Given the description of an element on the screen output the (x, y) to click on. 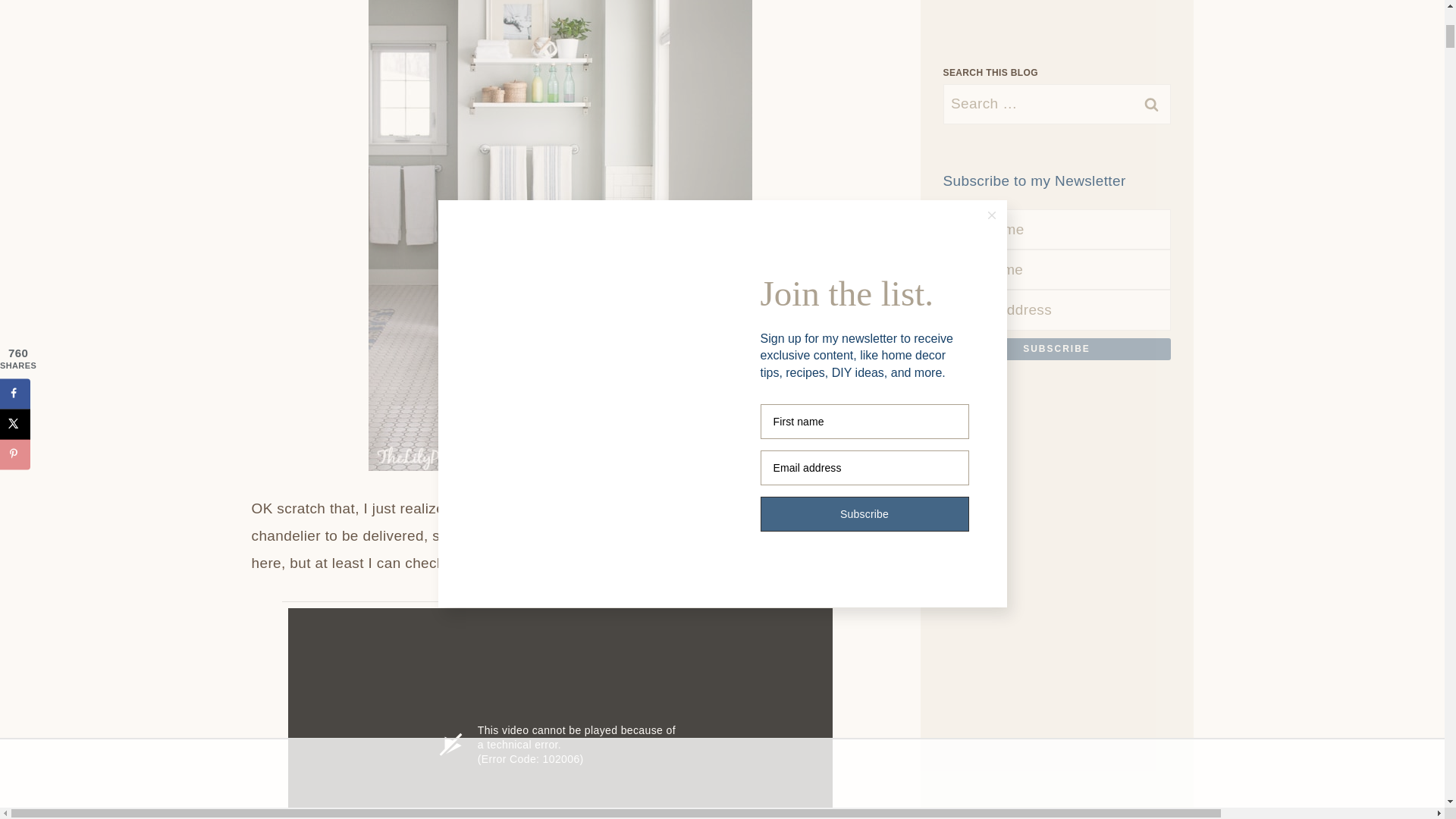
Subscribe (1056, 349)
Search (1056, 107)
Search (1056, 107)
